Given the description of an element on the screen output the (x, y) to click on. 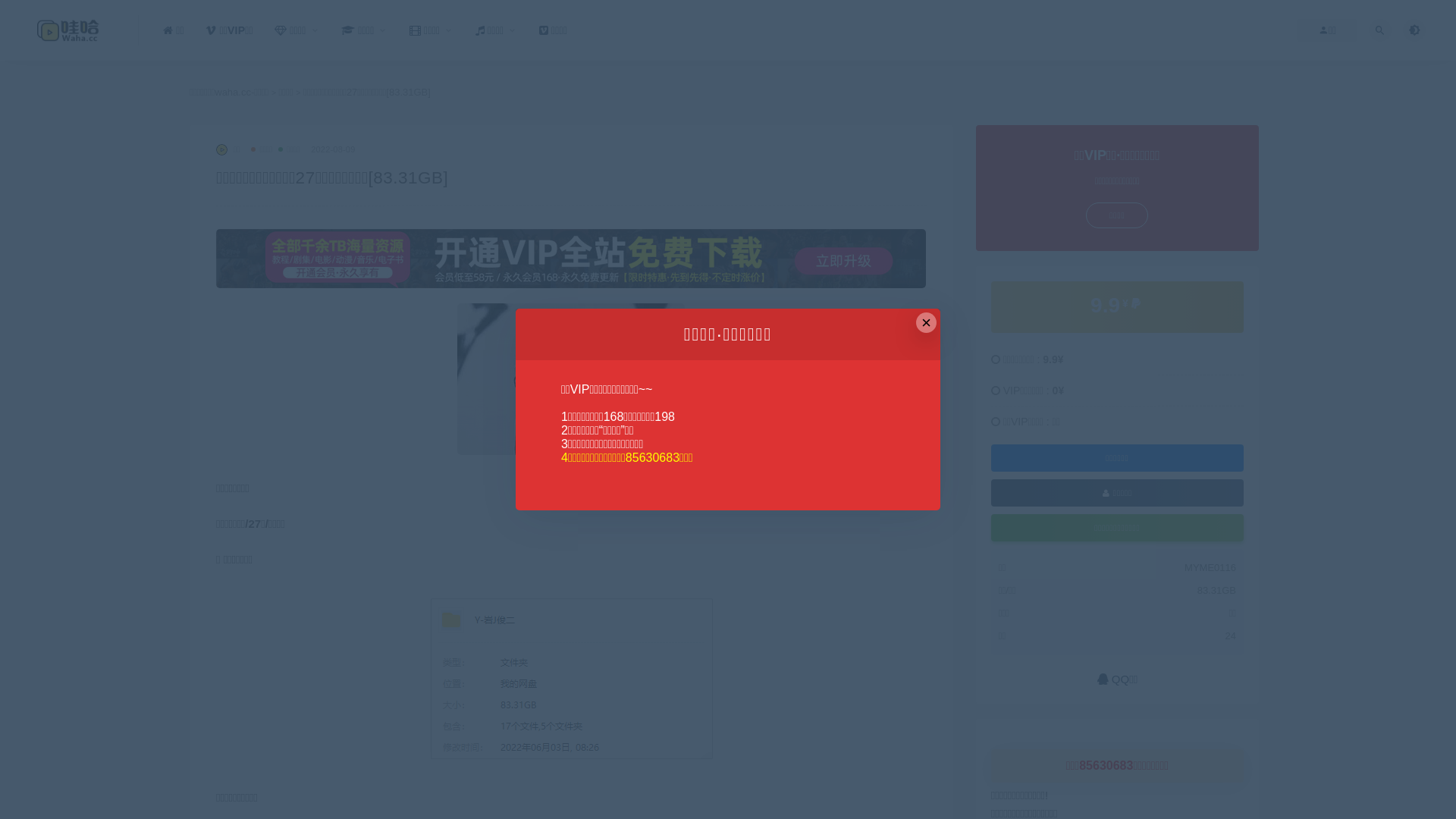
2022-08-09 Element type: text (332, 148)
